Given the description of an element on the screen output the (x, y) to click on. 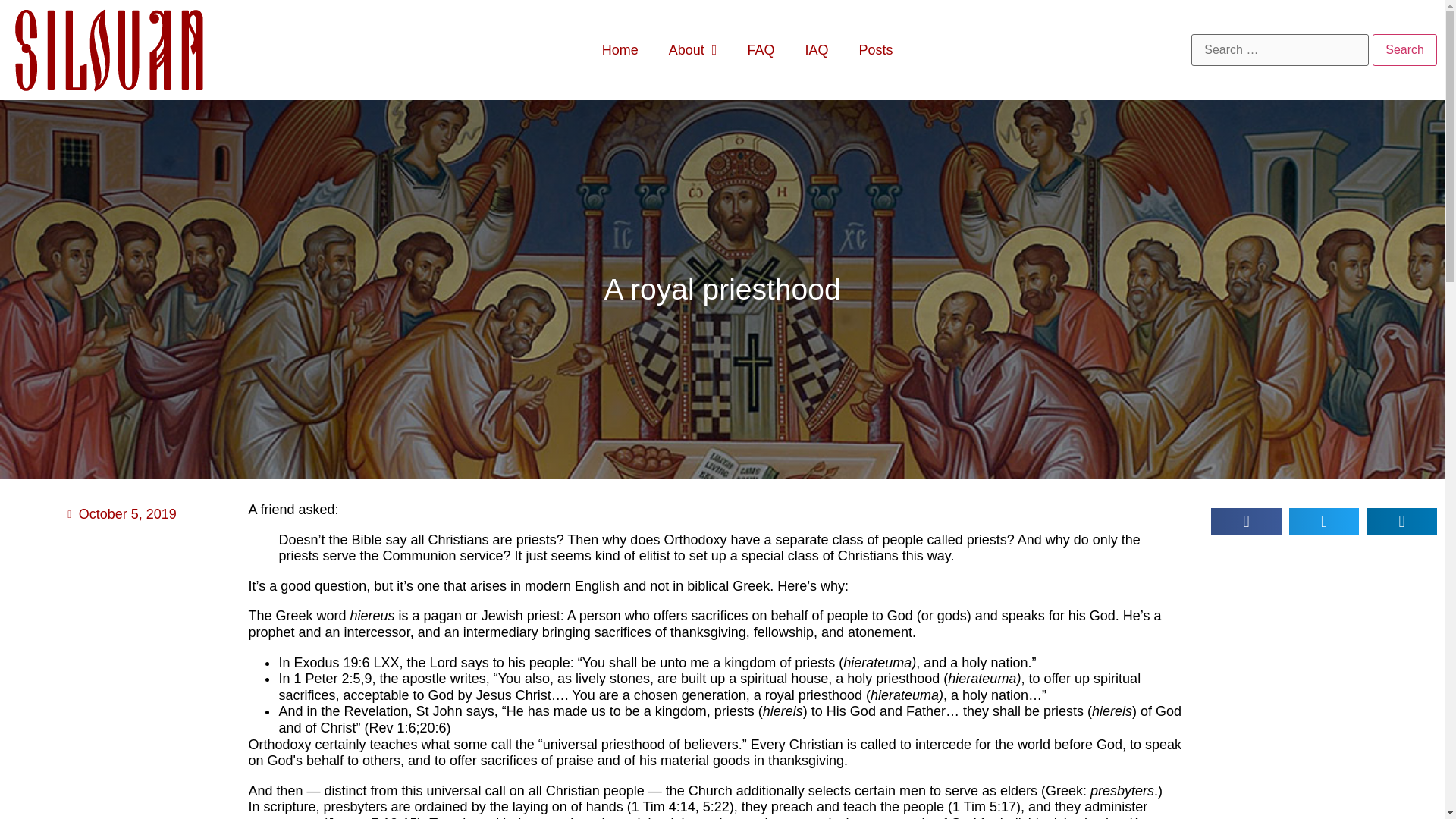
Search (1405, 50)
FAQ (760, 49)
Search (1405, 50)
IAQ (816, 49)
October 5, 2019 (120, 514)
Search (1405, 50)
Posts (875, 49)
Home (619, 49)
About (692, 49)
